Given the description of an element on the screen output the (x, y) to click on. 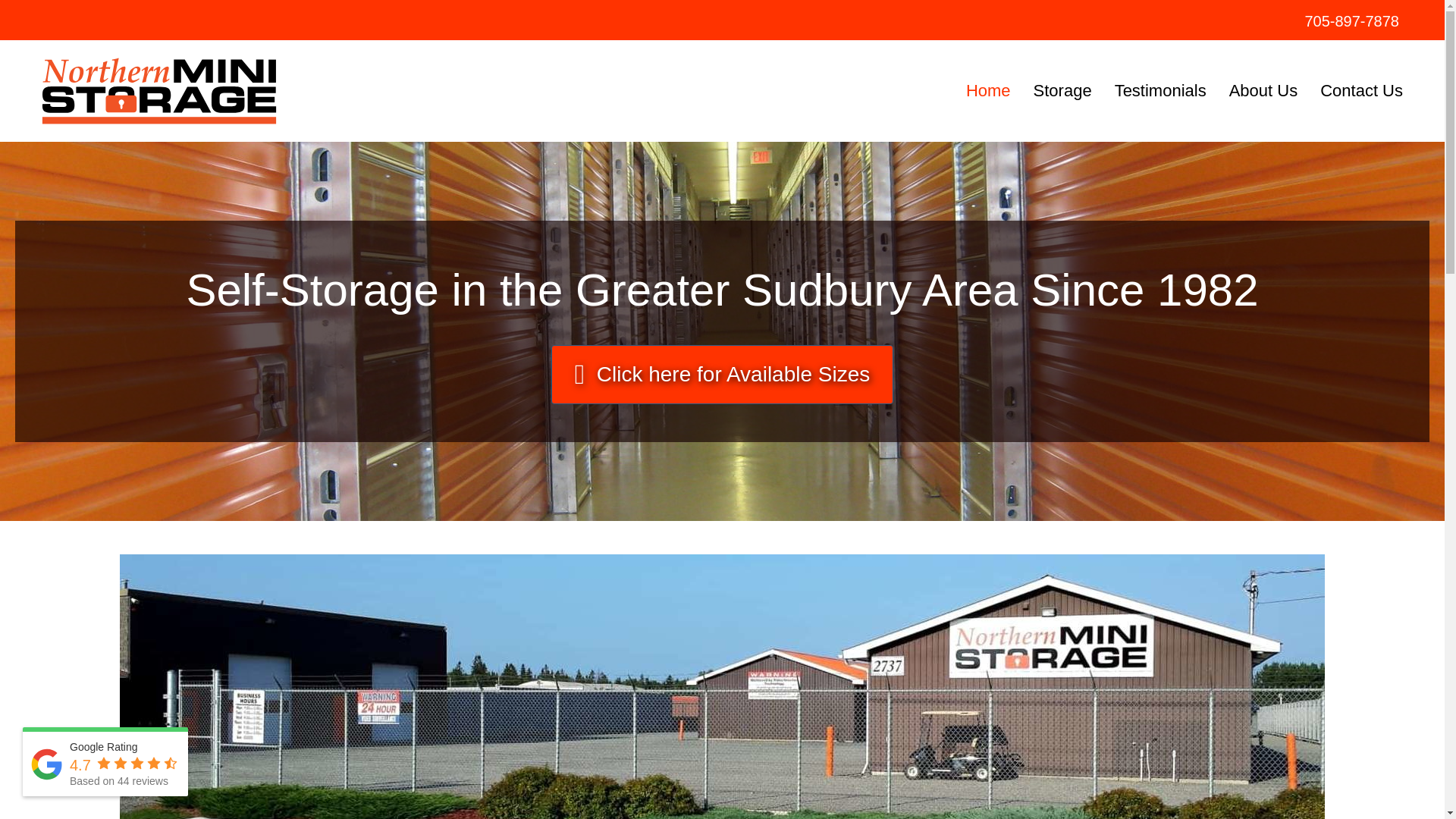
705-897-7878 (1351, 21)
Home (988, 90)
Contact Us (1360, 90)
Click here for Available Sizes (722, 374)
Storage (1062, 90)
About Us (1262, 90)
Testimonials (1160, 90)
